Given the description of an element on the screen output the (x, y) to click on. 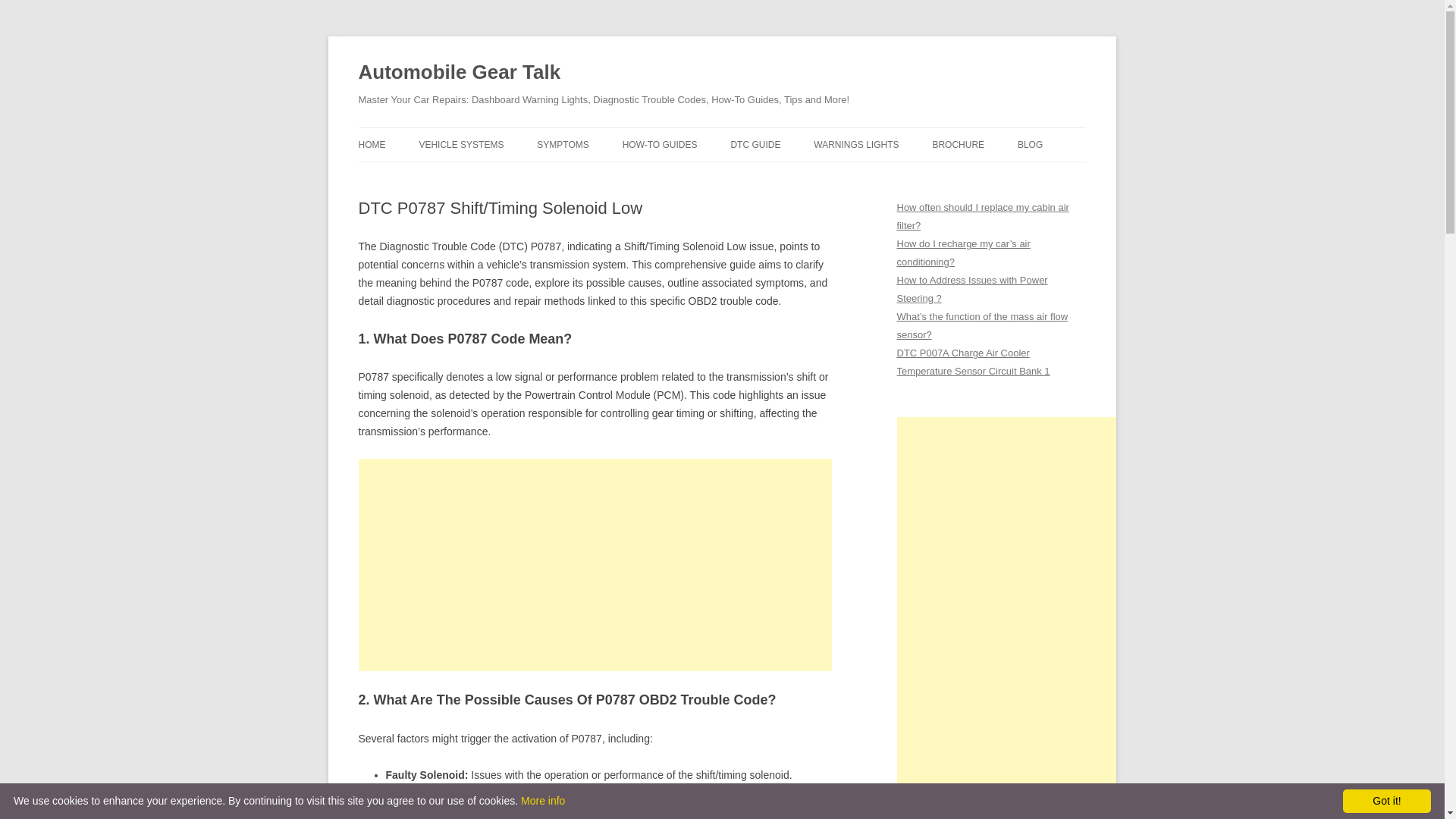
SYMPTOMS (562, 144)
BROCHURE (957, 144)
HOW-TO GUIDES (660, 144)
Advertisement (594, 564)
Automobile Gear Talk (459, 72)
VEHICLE SYSTEMS (461, 144)
WARNINGS LIGHTS (855, 144)
DTC GUIDE (755, 144)
